Given the description of an element on the screen output the (x, y) to click on. 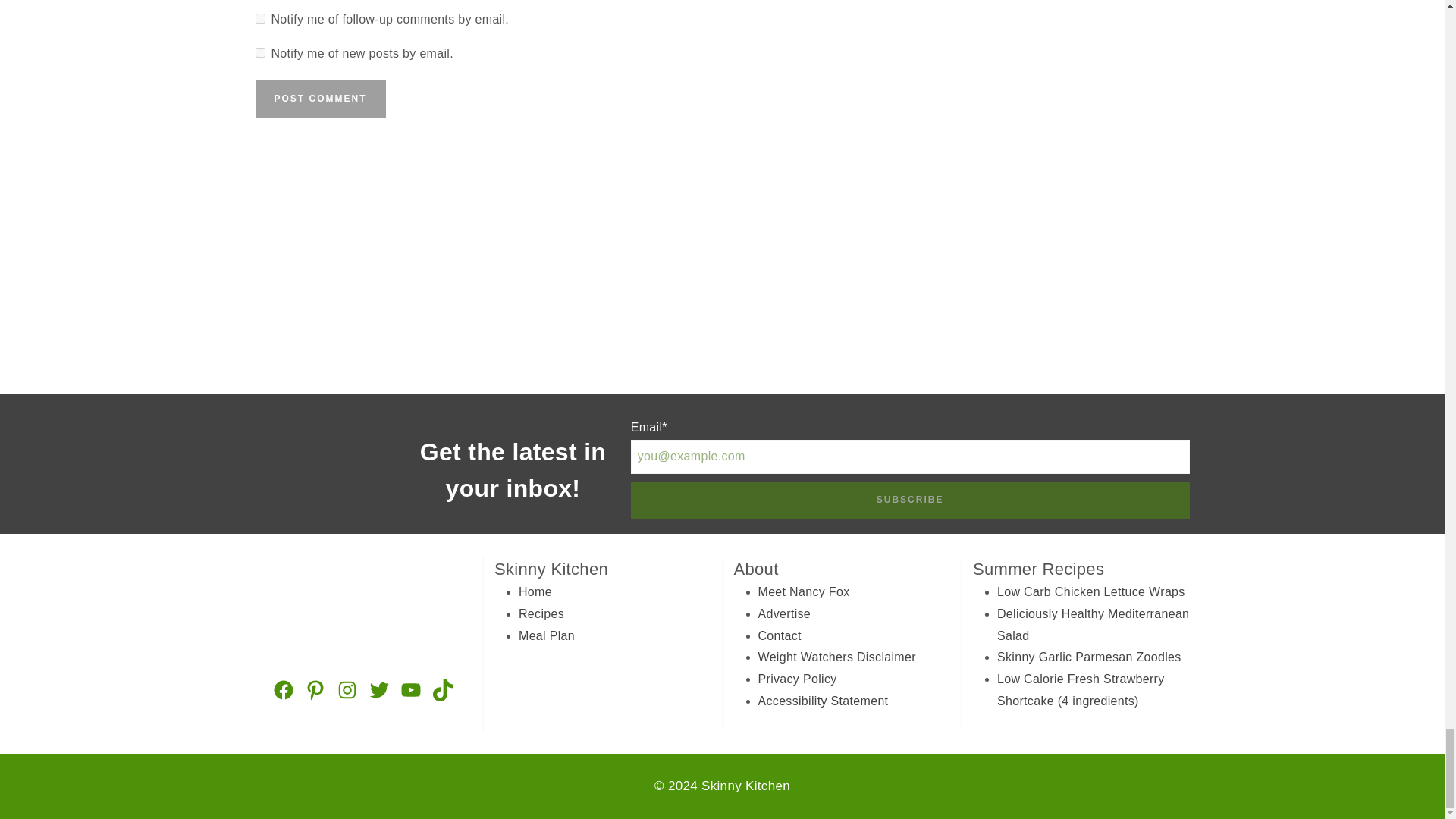
subscribe (259, 18)
subscribe (259, 52)
Subscribe (909, 499)
Post Comment (319, 98)
